Given the description of an element on the screen output the (x, y) to click on. 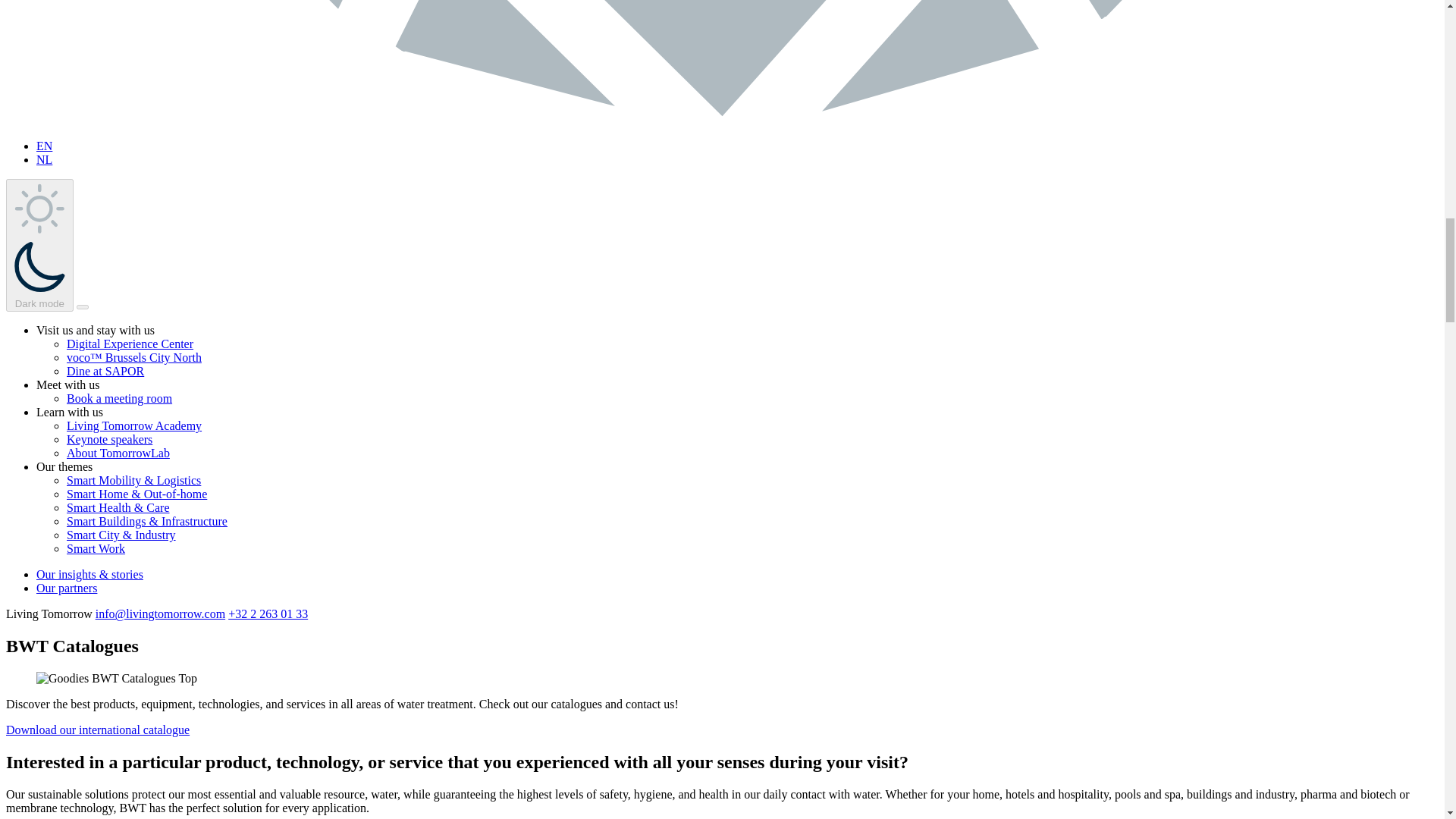
Meet with us (68, 384)
EN (44, 145)
Living Tomorrow Academy (134, 425)
About TomorrowLab (118, 452)
About TomorrowLab (118, 452)
Digital Experience Center (129, 343)
Dine at SAPOR (105, 370)
Our themes (64, 466)
Keynote speakers (109, 439)
Learn with us (69, 411)
Dark mode (39, 245)
Book a meeting room (118, 398)
Visit us and stay with us (95, 329)
NL (44, 159)
Keynote speakers (109, 439)
